Given the description of an element on the screen output the (x, y) to click on. 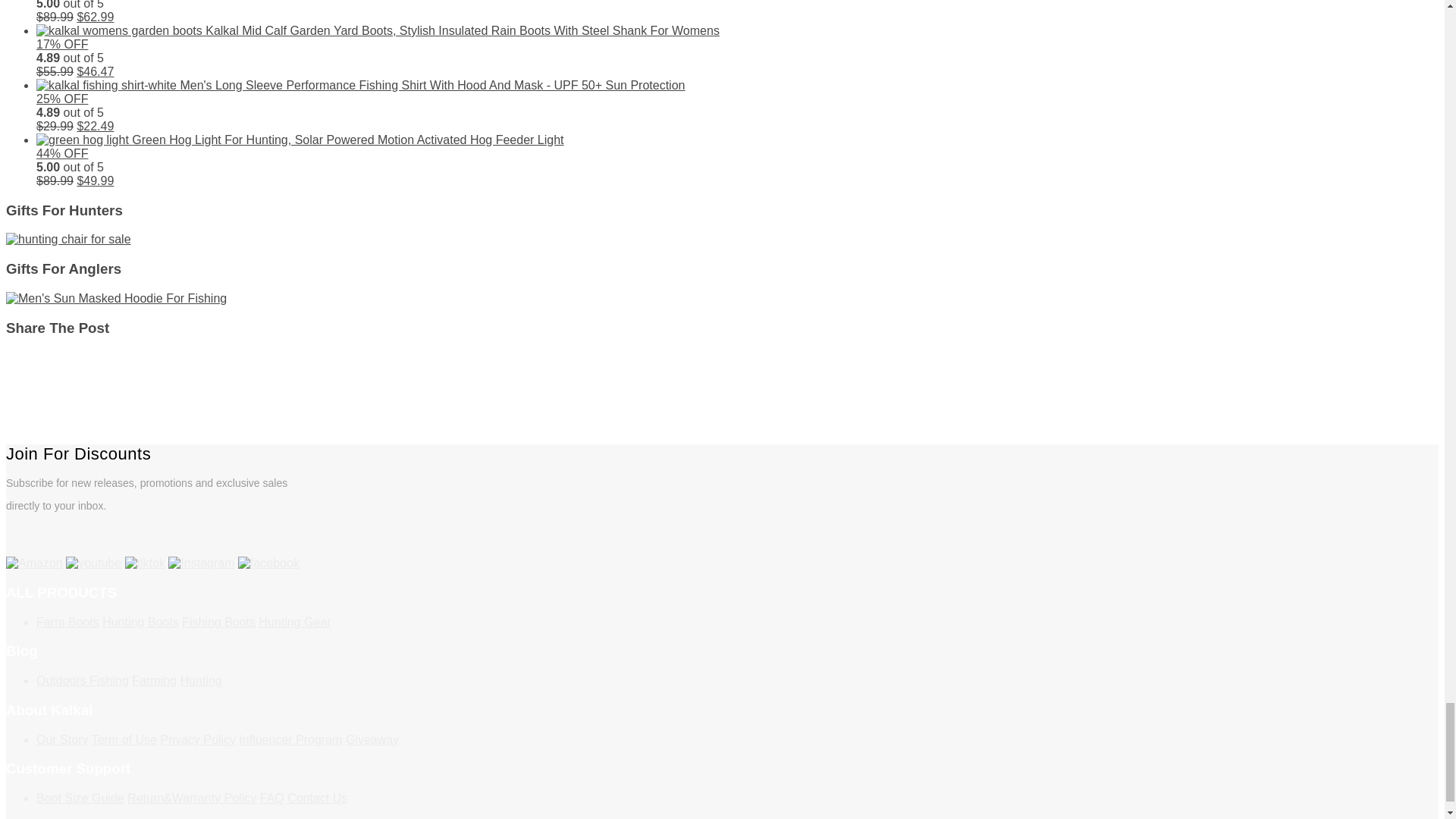
tiktok (145, 562)
Instagram (201, 562)
youtube (92, 562)
Amazon (33, 562)
